Given the description of an element on the screen output the (x, y) to click on. 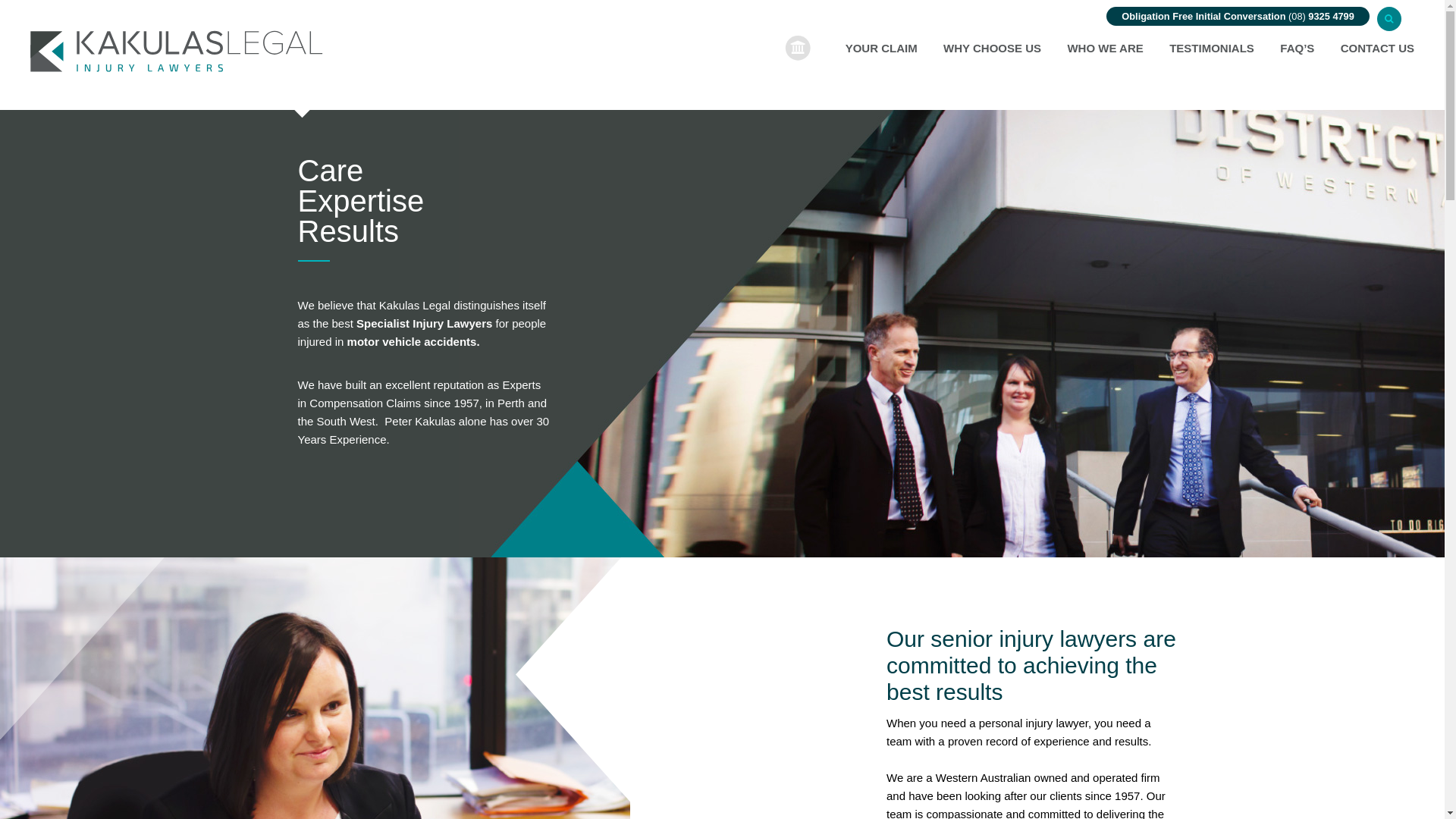
CONTACT US Element type: text (1377, 49)
(08) 9325 4799 Element type: text (1321, 15)
WHY CHOOSE US Element type: text (992, 49)
TESTIMONIALS Element type: text (1211, 49)
YOUR CLAIM Element type: text (881, 49)
WHO WE ARE Element type: text (1104, 49)
